Given the description of an element on the screen output the (x, y) to click on. 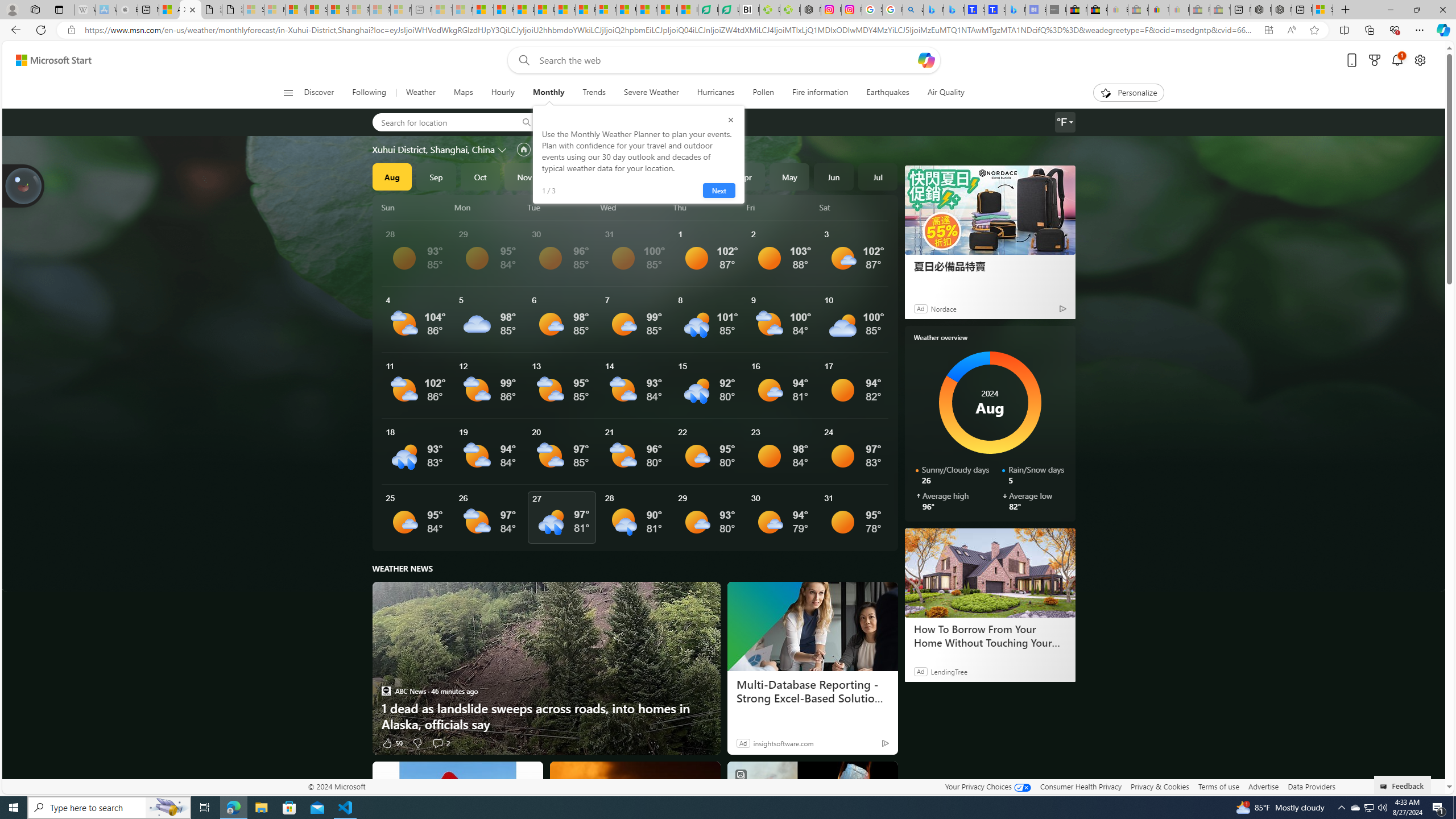
Sign in to your Microsoft account - Sleeping (253, 9)
Nov (523, 176)
Nordace - Nordace Edin Collection (809, 9)
Jun (833, 176)
Aug (391, 176)
